Given the description of an element on the screen output the (x, y) to click on. 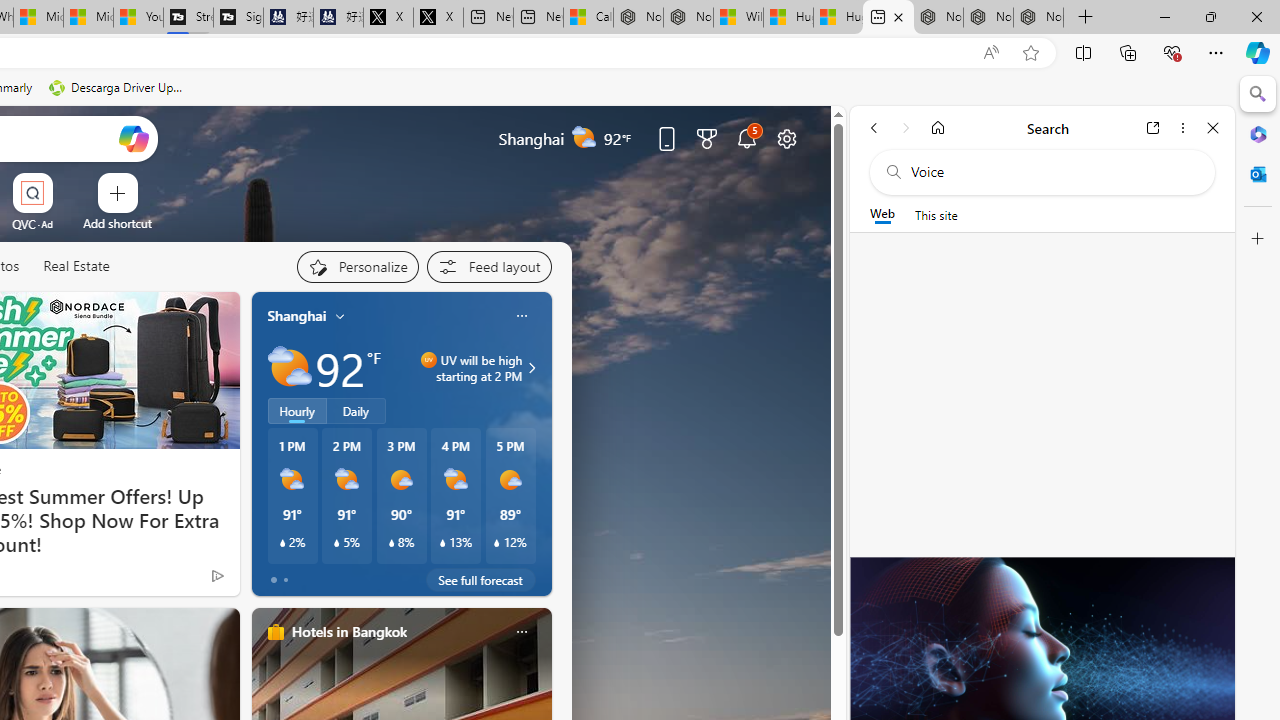
Nordace Siena Pro 15 Backpack (987, 17)
Web scope (882, 214)
Partly sunny (289, 368)
Real Estate (76, 265)
Class: weather-current-precipitation-glyph (497, 543)
Home (938, 127)
Personalize your feed" (356, 266)
